Given the description of an element on the screen output the (x, y) to click on. 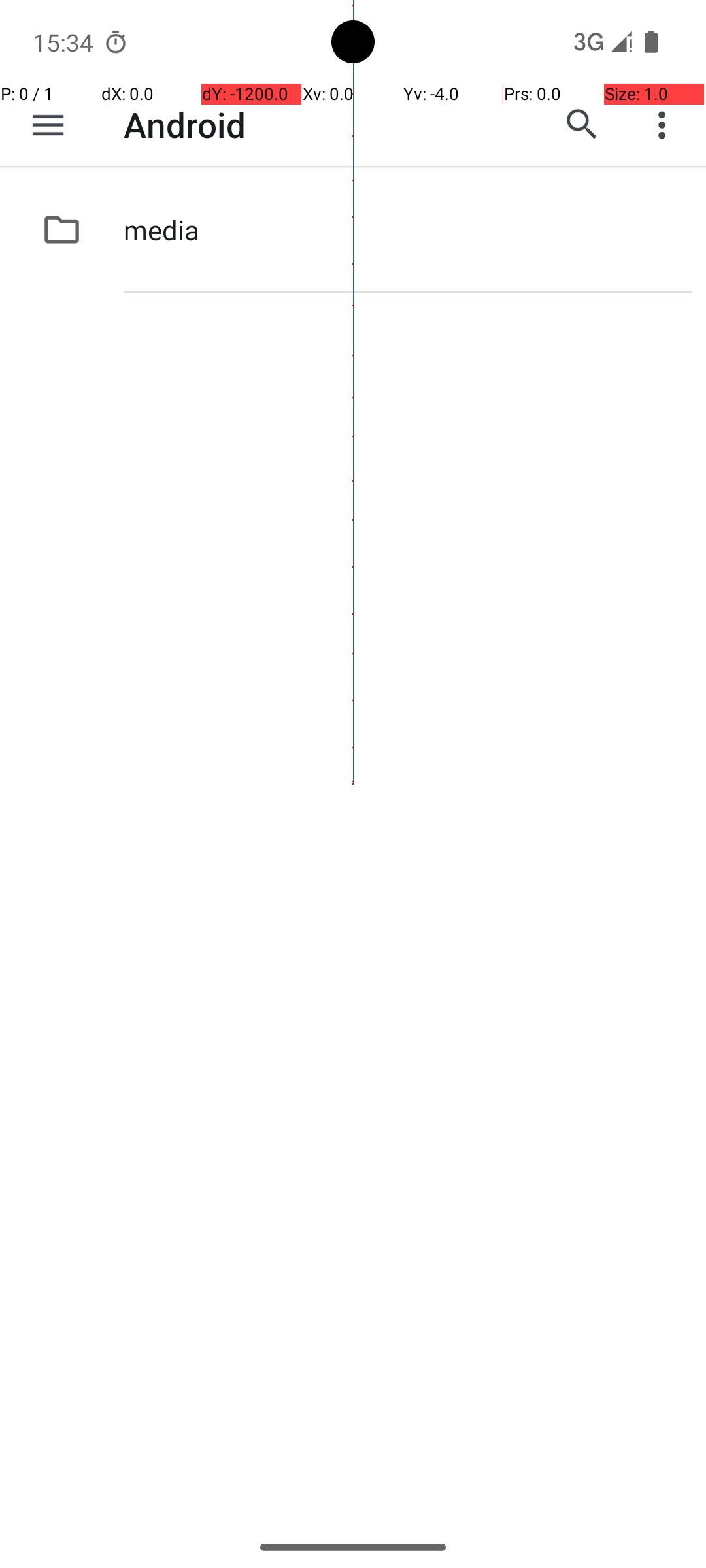
Android Element type: android.widget.TextView (184, 124)
Files in Android Element type: android.widget.TextView (311, 125)
media Element type: android.widget.TextView (161, 229)
